Given the description of an element on the screen output the (x, y) to click on. 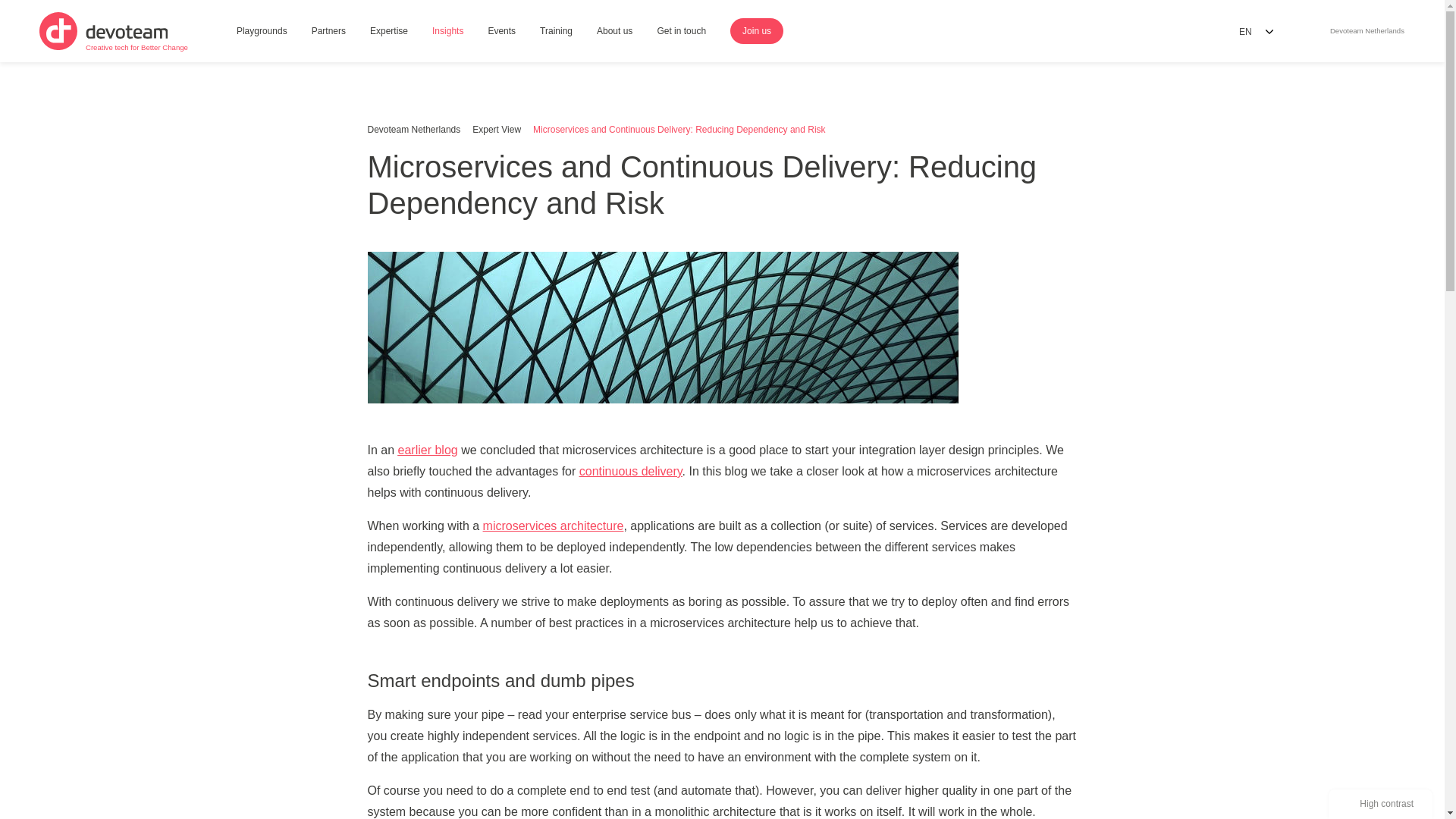
EN (1256, 31)
Go to Expert View. (496, 129)
Playgrounds (261, 31)
About us (615, 31)
Expertise (389, 31)
Creative tech for Better Change (113, 30)
Partners (328, 31)
Training (556, 31)
Go to Devoteam Netherlands. (1364, 31)
